Given the description of an element on the screen output the (x, y) to click on. 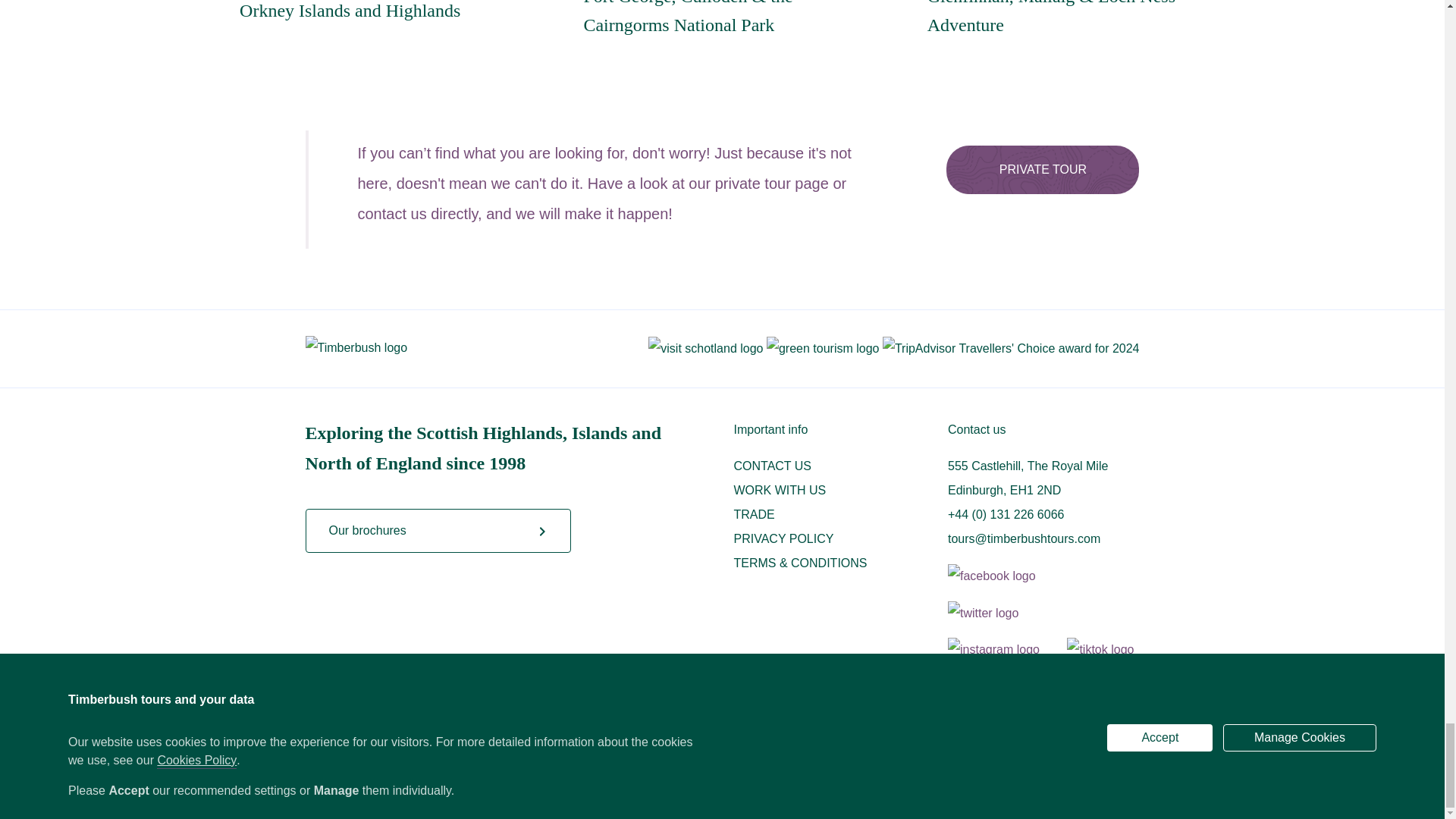
X (994, 612)
Facebook (1003, 575)
Instagram (1005, 650)
TikTok (1100, 650)
